Given the description of an element on the screen output the (x, y) to click on. 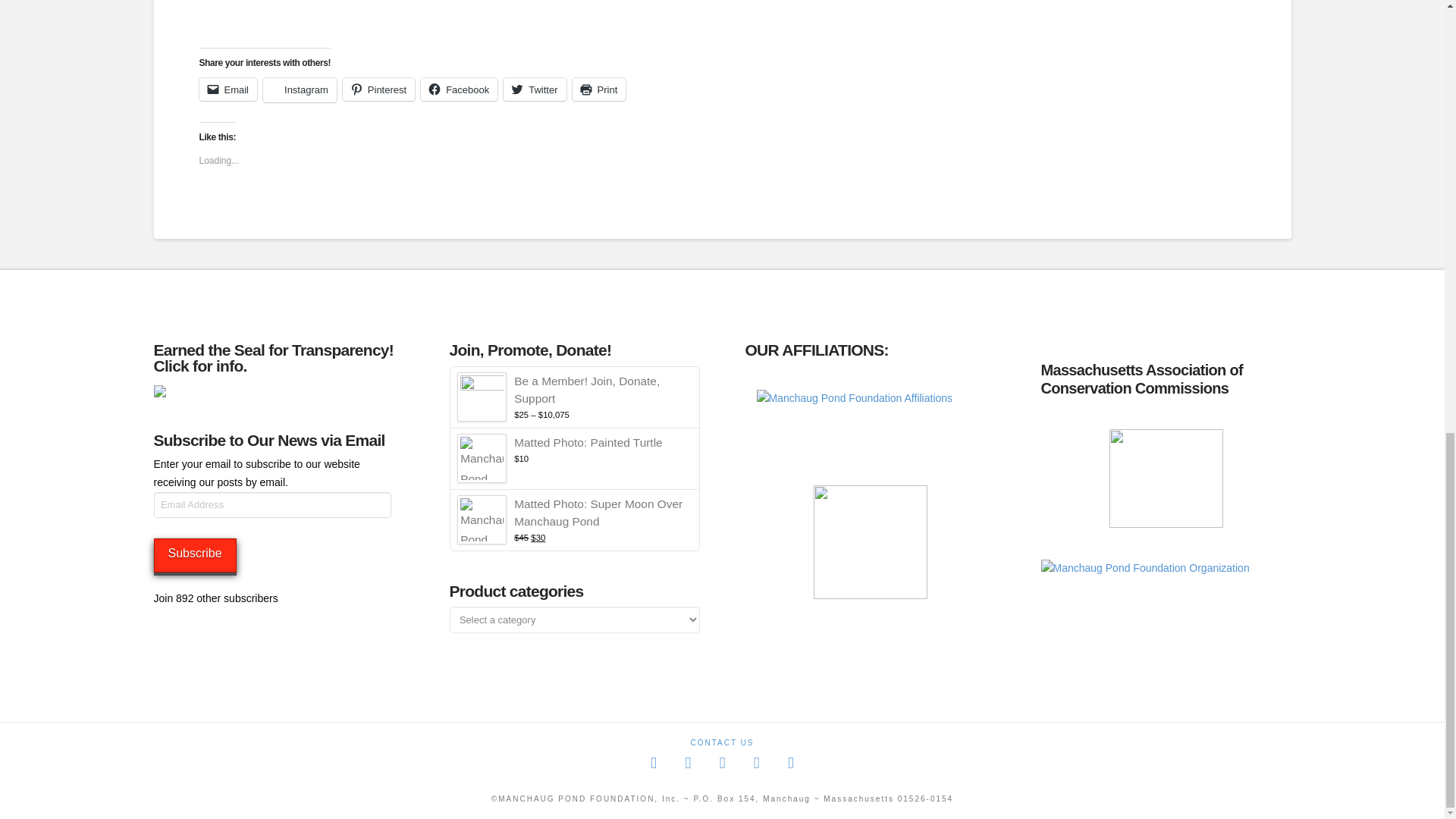
Click to share on Instagram (299, 89)
Click to print (599, 88)
Click to share on Facebook (458, 88)
Click to share on Twitter (534, 88)
Click to email a link to a friend (227, 88)
Blackstone River Coalition (870, 421)
Click to share on Pinterest (378, 88)
